Given the description of an element on the screen output the (x, y) to click on. 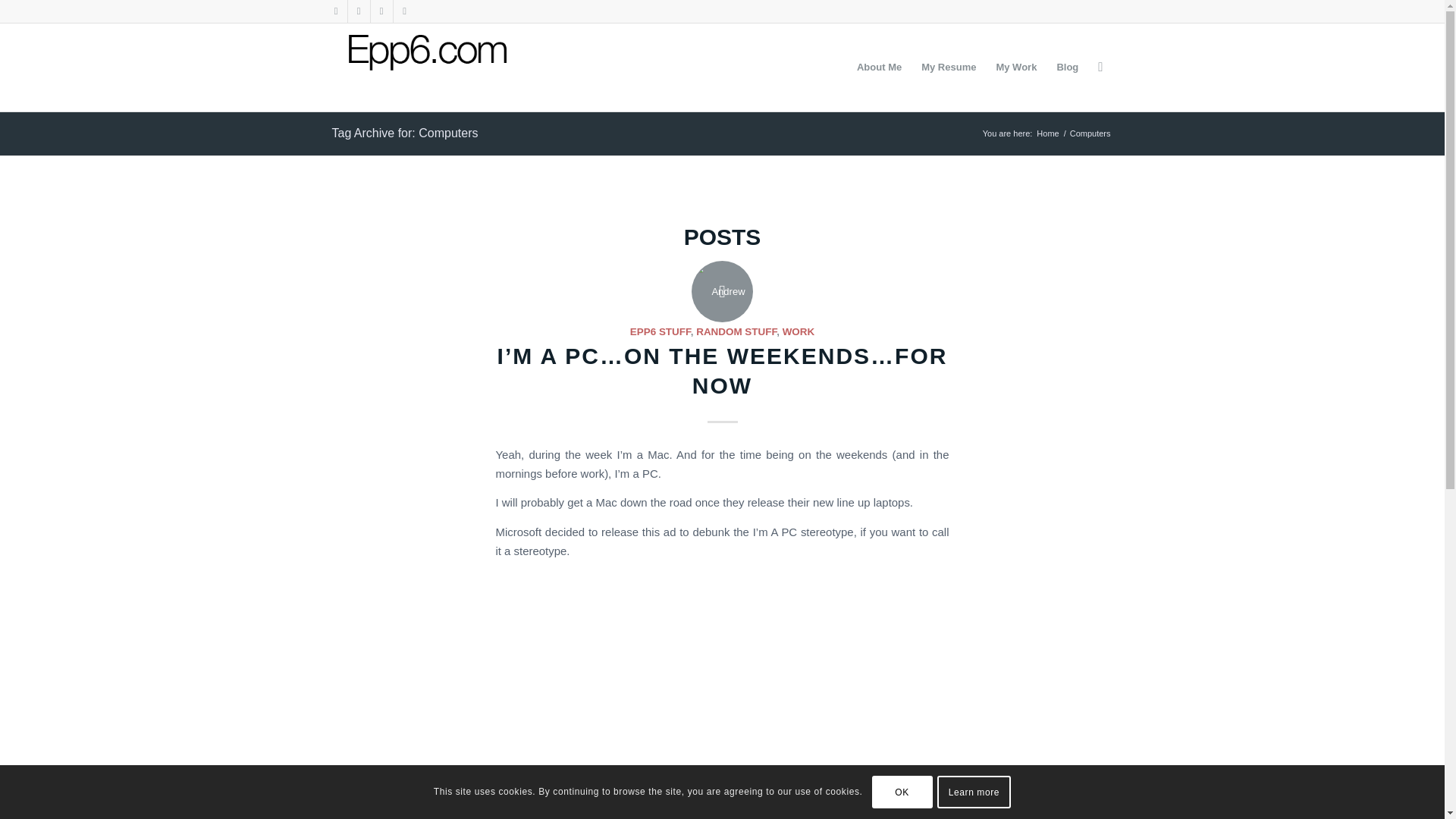
Tag Archive for: Computers (405, 132)
About Me (879, 67)
Home (1047, 133)
Learn more (974, 791)
My Resume (948, 67)
Facebook (358, 11)
Blog (1066, 67)
Instagram (380, 11)
Twitter (335, 11)
OK (902, 791)
LinkedIn (403, 11)
Permanent Link: Tag Archive for: Computers (405, 132)
My Work (1015, 67)
RANDOM STUFF (735, 331)
WORK (799, 331)
